Given the description of an element on the screen output the (x, y) to click on. 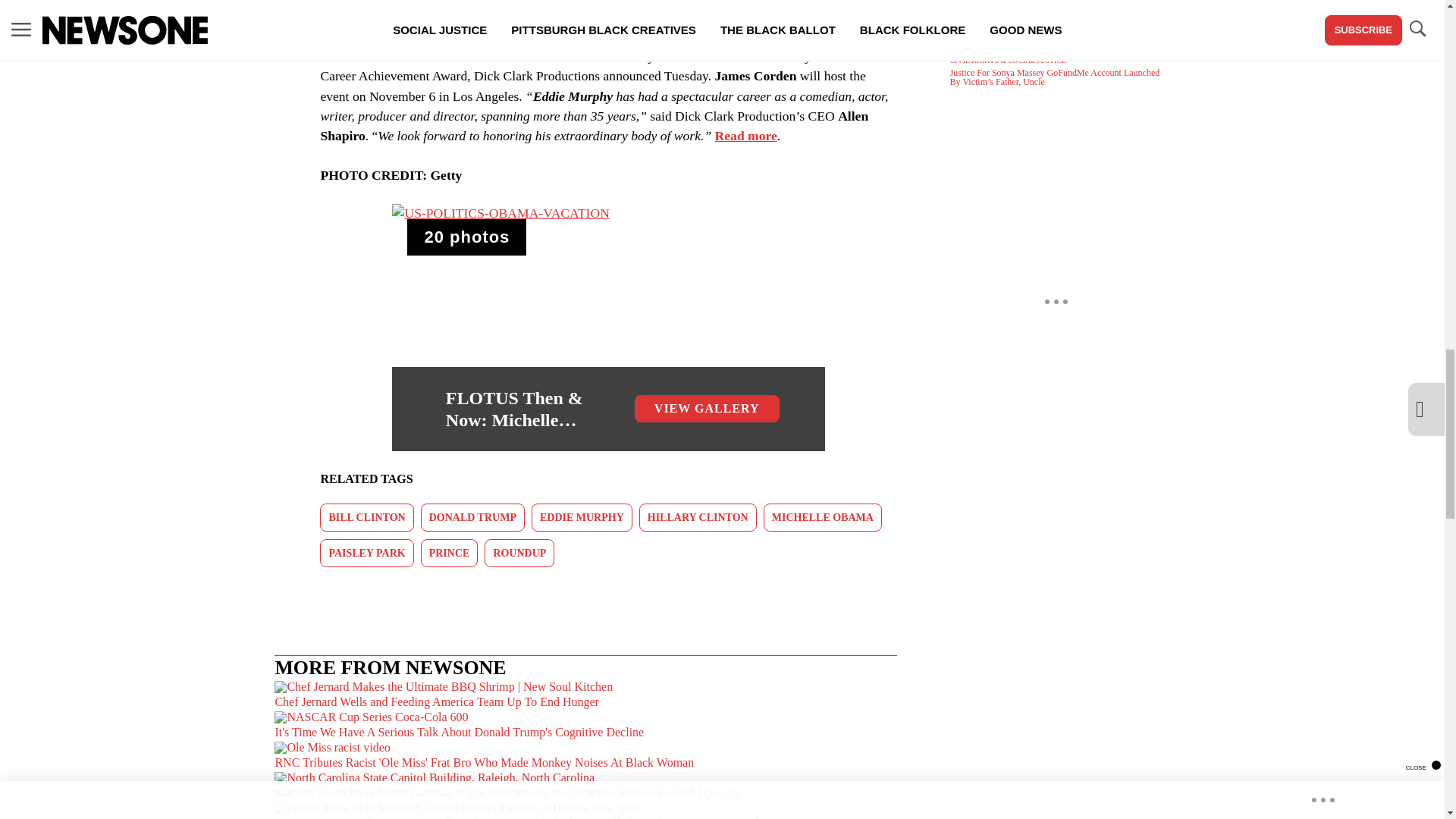
ROUNDUP (519, 552)
HILLARY CLINTON (698, 517)
Media Playlist (466, 237)
EDDIE MURPHY (581, 517)
BILL CLINTON (366, 517)
Read more (745, 135)
Chef Jernard Wells and Feeding America Team Up To End Hunger (585, 695)
PAISLEY PARK (366, 552)
PRINCE (449, 552)
DONALD TRUMP (472, 517)
MICHELLE OBAMA (822, 517)
